Given the description of an element on the screen output the (x, y) to click on. 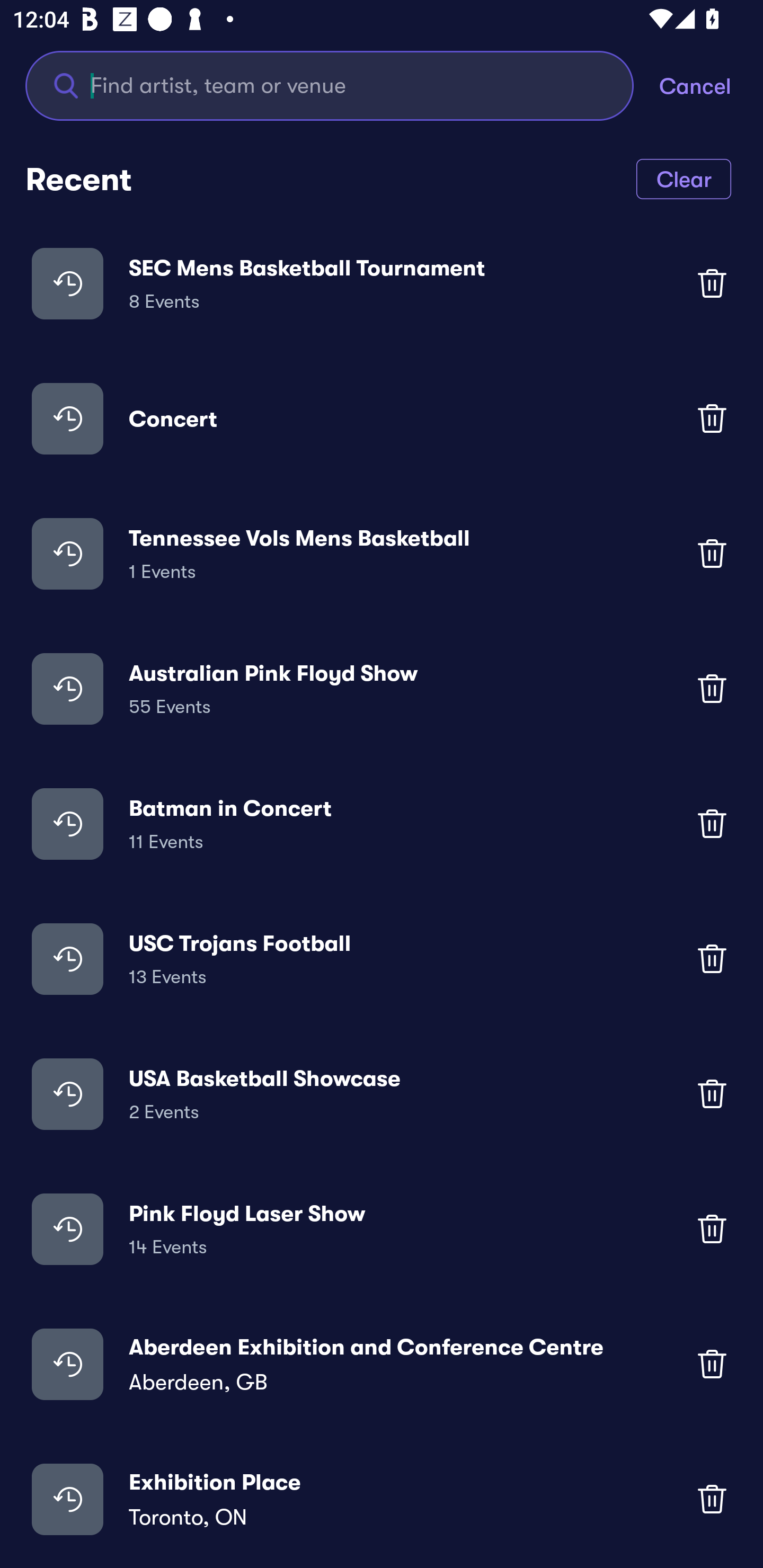
Cancel (711, 85)
Find artist, team or venue Find (329, 85)
Find artist, team or venue Find (341, 85)
Clear (683, 178)
SEC Mens Basketball Tournament 8 Events (381, 282)
Concert (381, 417)
Tennessee Vols Mens Basketball 1 Events (381, 553)
Australian Pink Floyd Show 55 Events (381, 688)
Batman in Concert 11 Events (381, 823)
USC Trojans Football 13 Events (381, 958)
USA Basketball Showcase 2 Events (381, 1093)
Pink Floyd Laser Show 14 Events (381, 1228)
Exhibition Place Toronto, ON (381, 1498)
